Given the description of an element on the screen output the (x, y) to click on. 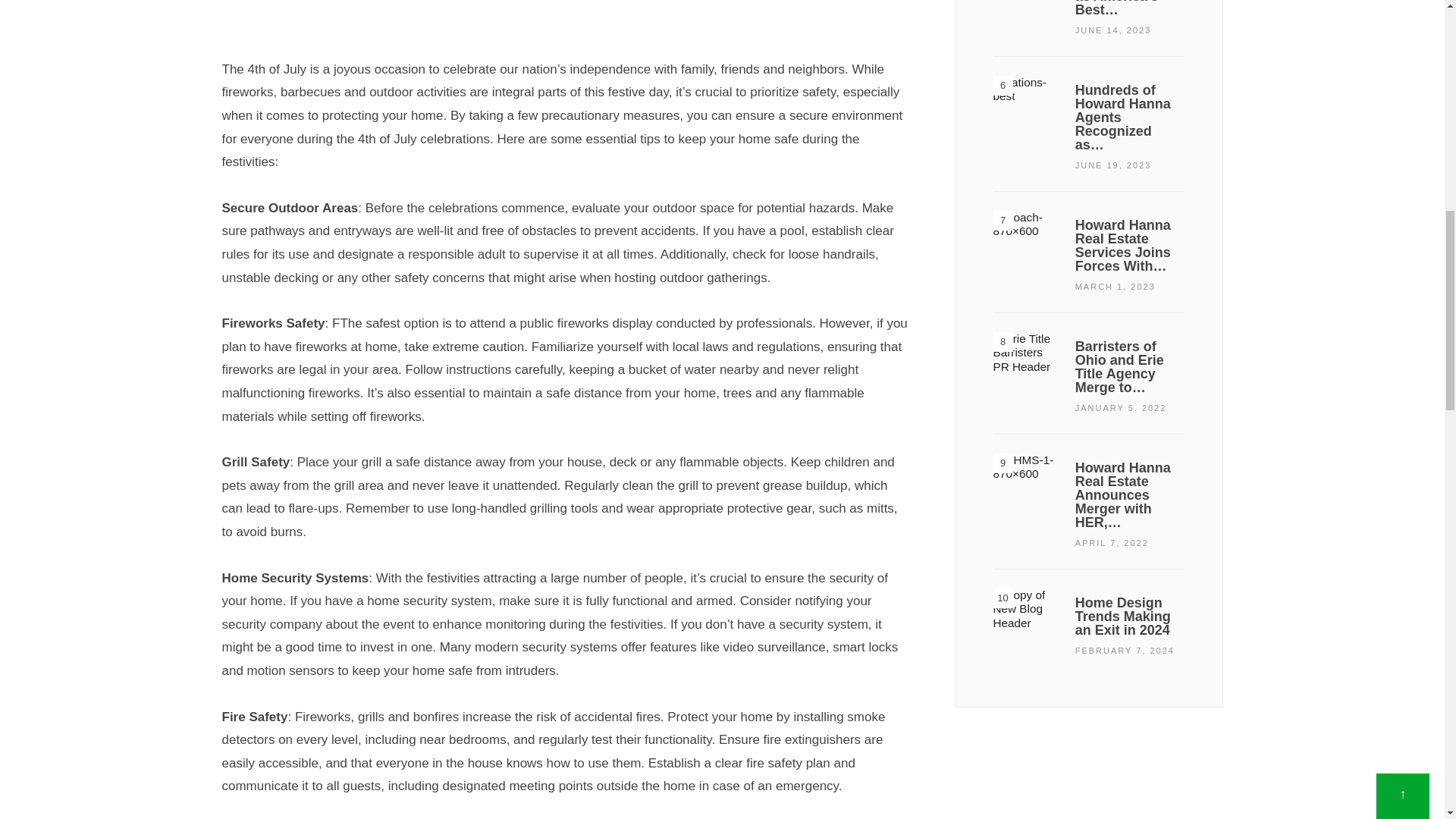
Scroll to top (1402, 1)
Home Design Trends Making an Exit in 2024 (1025, 621)
